Given the description of an element on the screen output the (x, y) to click on. 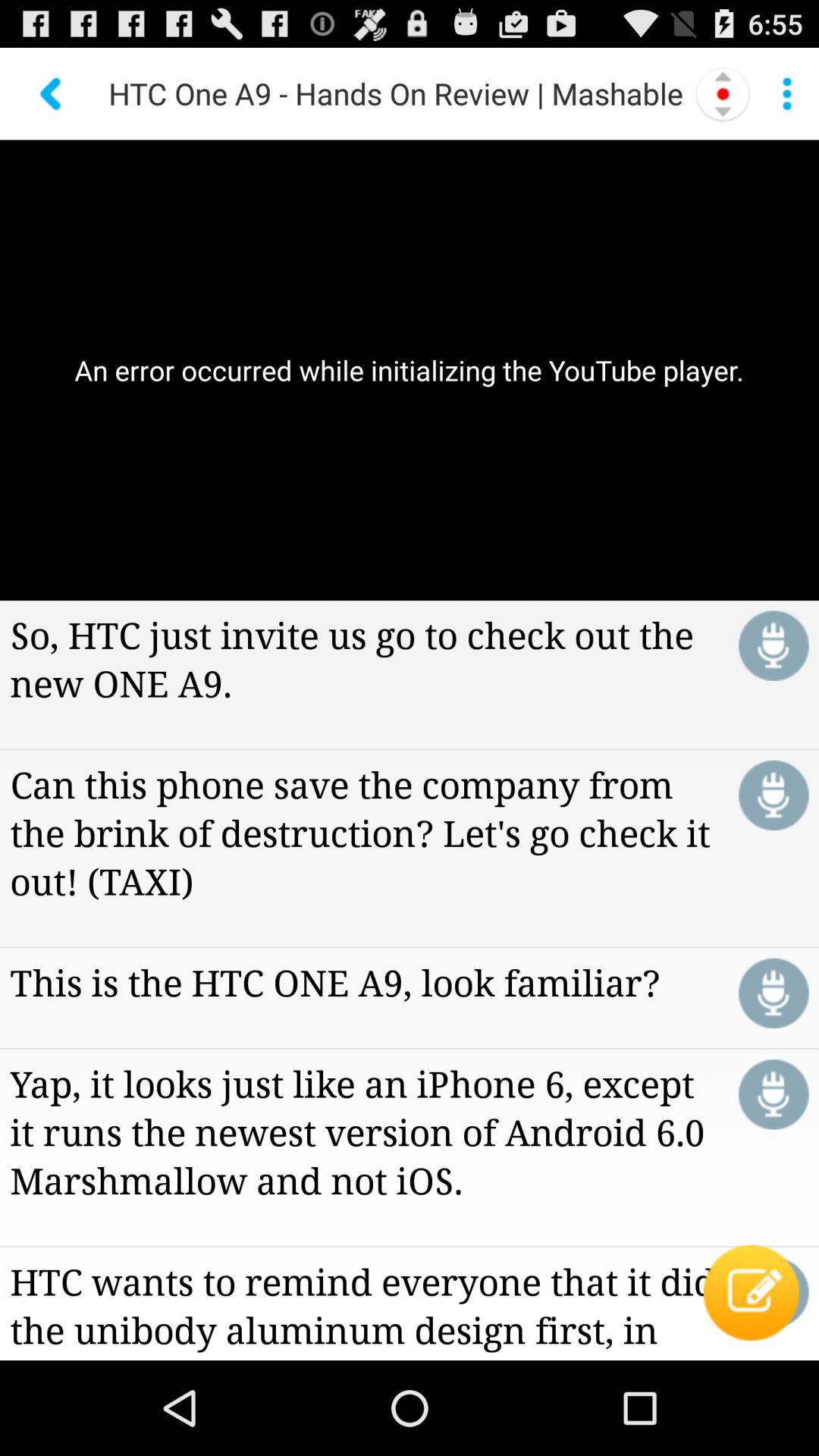
jump to can this phone (364, 832)
